Given the description of an element on the screen output the (x, y) to click on. 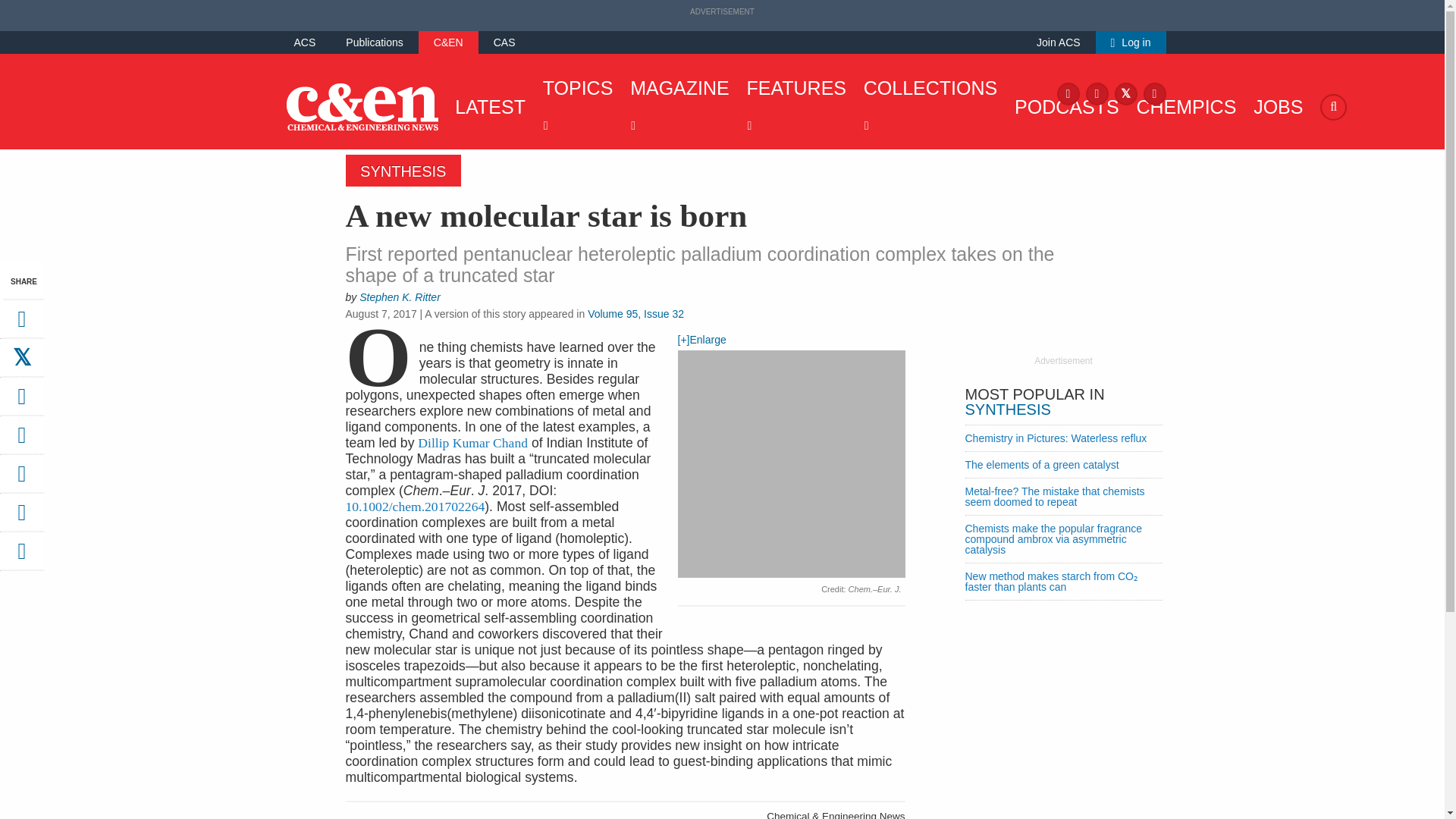
Publications (374, 42)
A Truncated Molecular Star (415, 506)
WeChat (21, 479)
Chand group website (472, 442)
Instagram (1097, 92)
LinkedIn (1154, 92)
Join ACS (1058, 42)
Facebook (1068, 92)
ACS (304, 42)
